Given the description of an element on the screen output the (x, y) to click on. 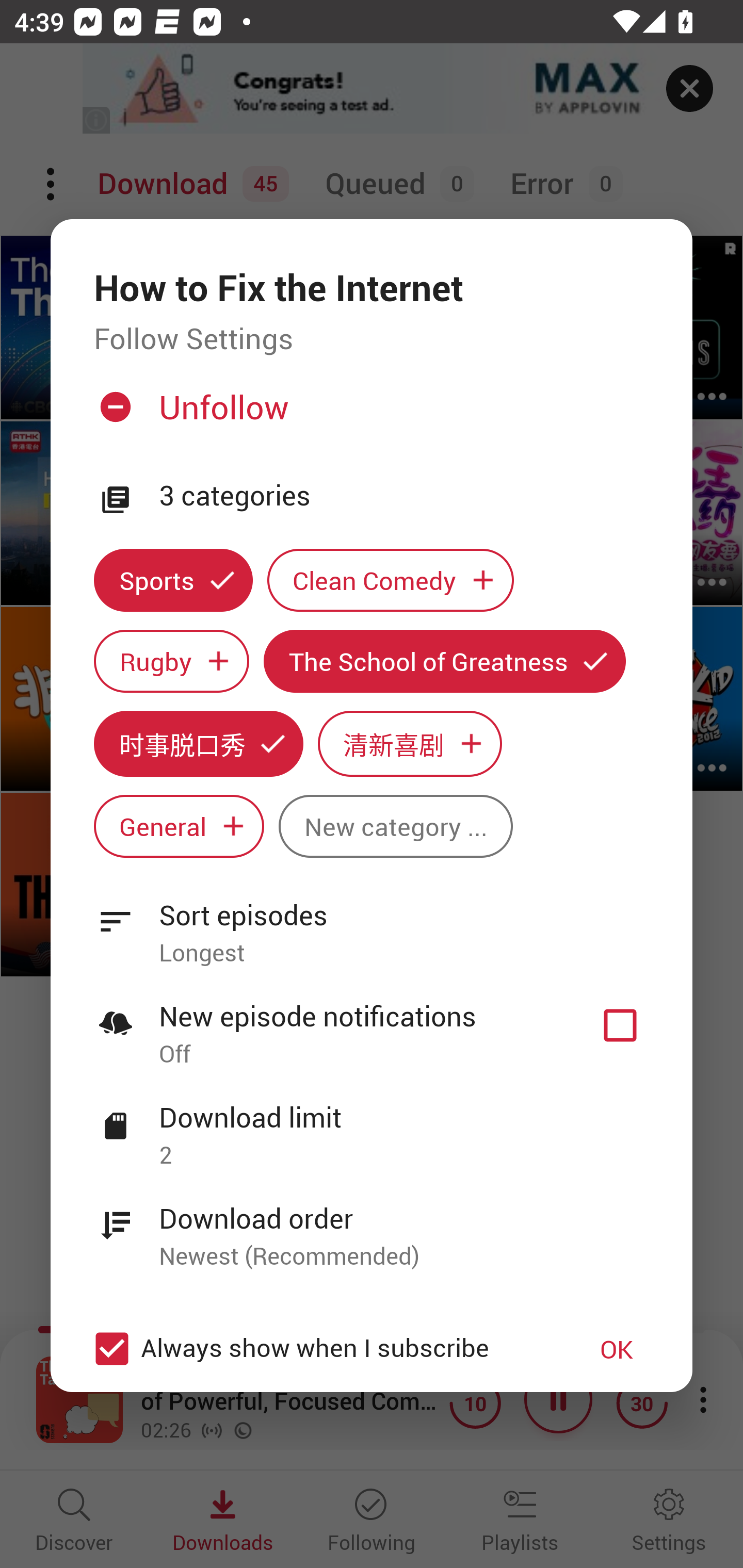
Unfollow (369, 415)
3 categories (404, 495)
Sports (172, 579)
Clean Comedy (390, 579)
Rugby (170, 661)
The School of Greatness (444, 661)
时事脱口秀 (198, 743)
清新喜剧 (410, 743)
General (178, 825)
New category ... (395, 825)
Sort episodes Longest (371, 922)
New episode notifications (620, 1025)
Download limit 2 (371, 1125)
Download order Newest (Recommended) (371, 1226)
OK (616, 1349)
Always show when I subscribe (320, 1349)
